Given the description of an element on the screen output the (x, y) to click on. 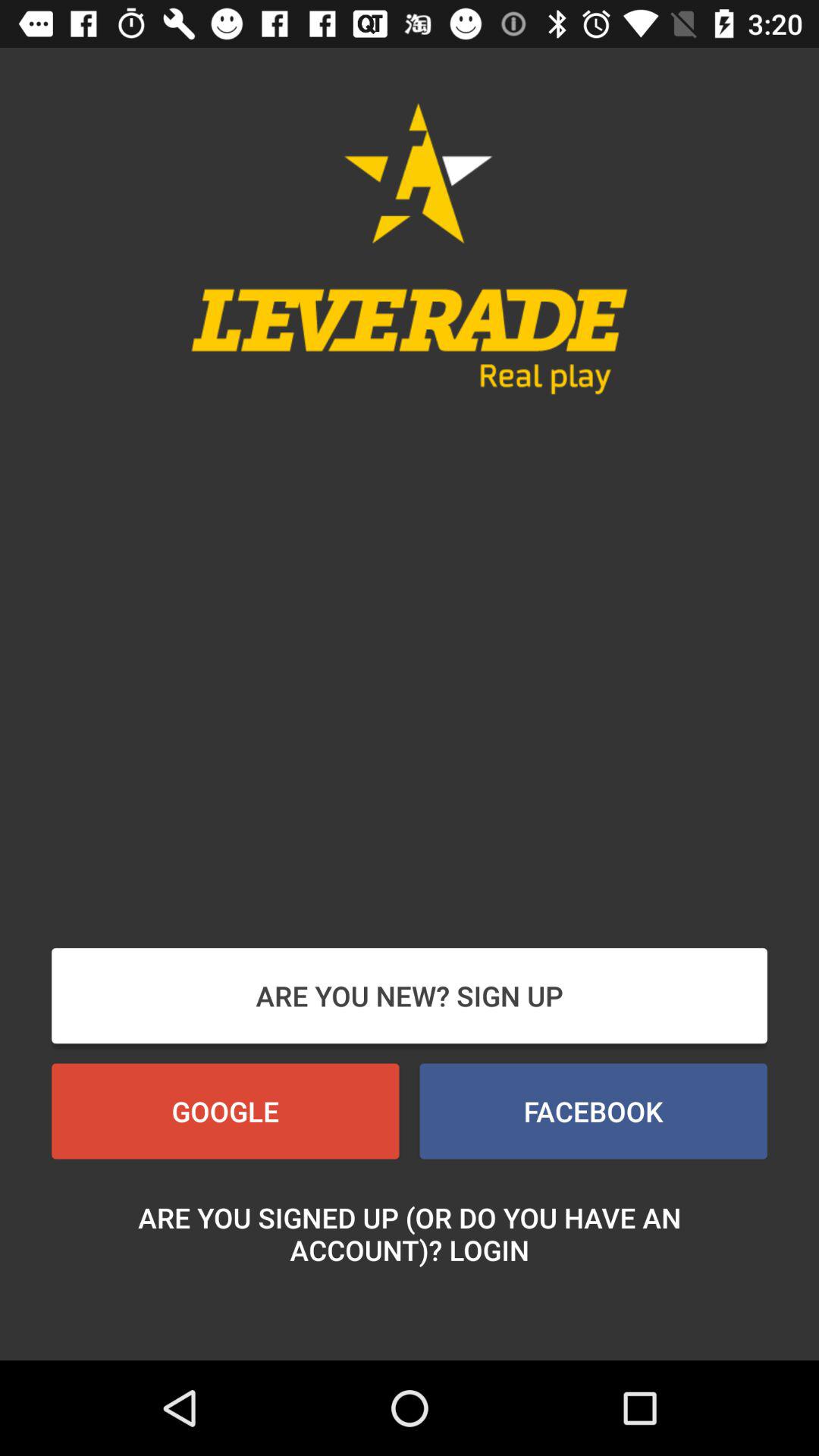
launch icon to the left of facebook item (225, 1111)
